Given the description of an element on the screen output the (x, y) to click on. 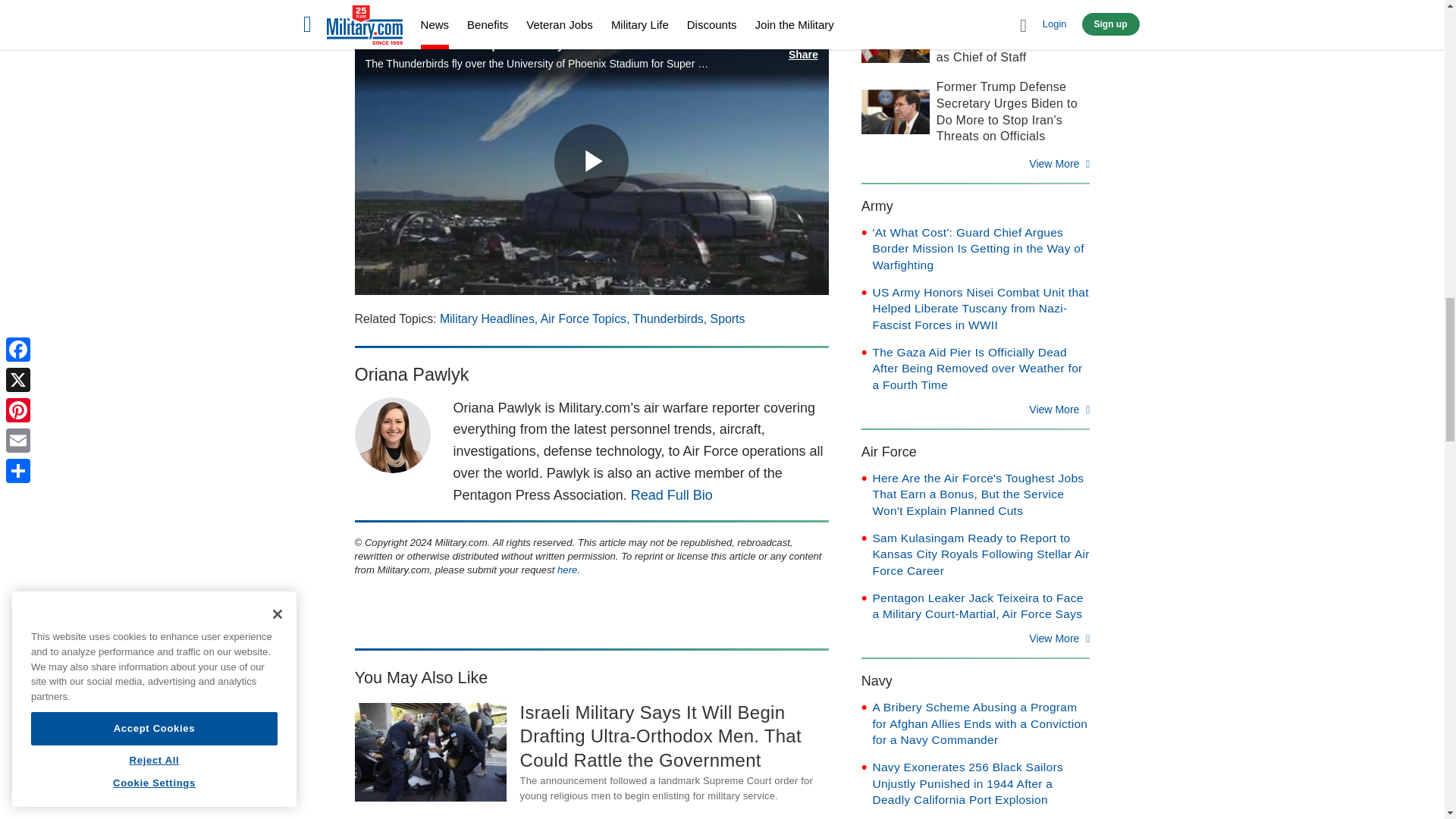
Play Video (591, 161)
Share (802, 48)
